Given the description of an element on the screen output the (x, y) to click on. 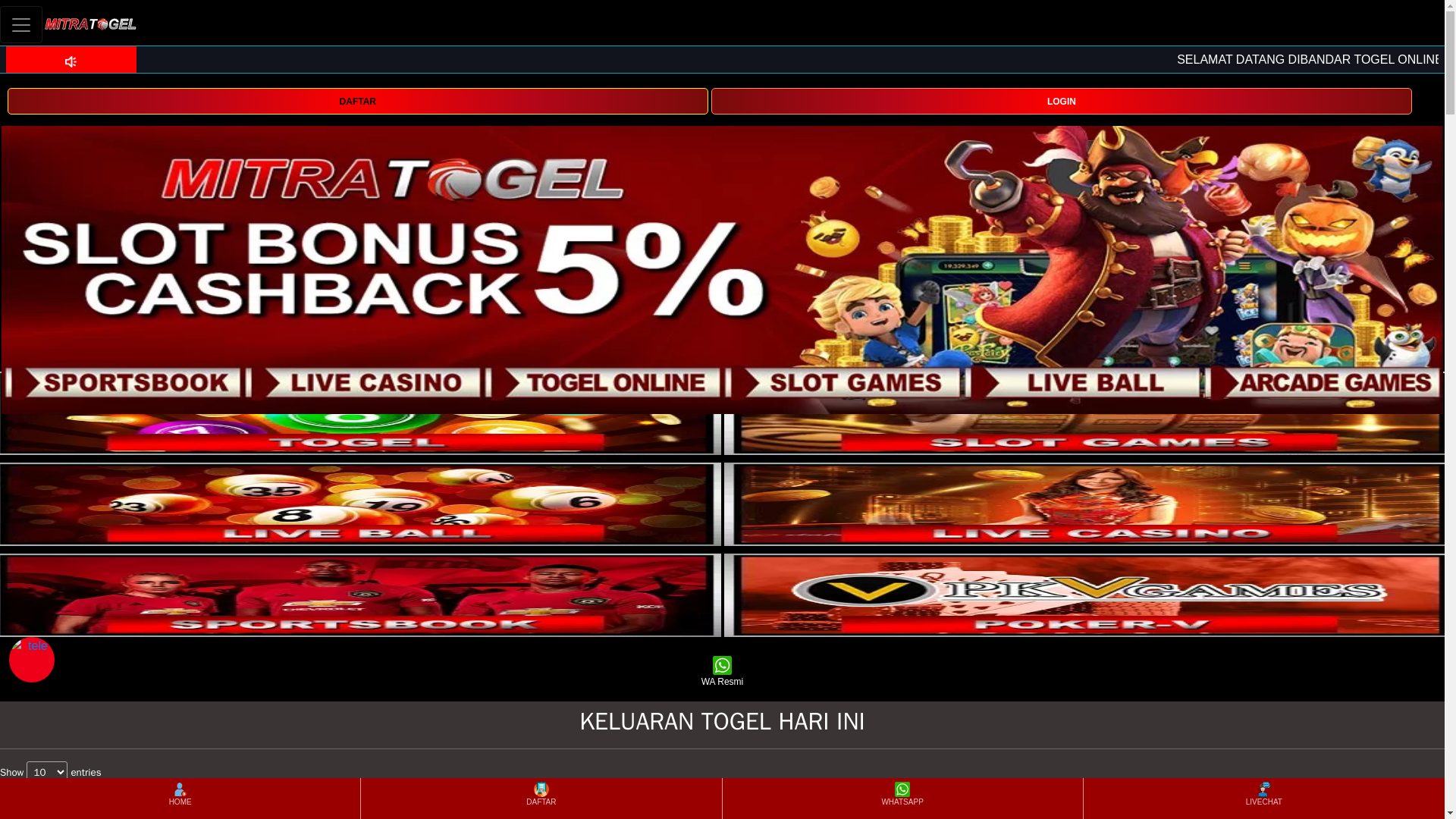
WHATSAPP (901, 798)
LOGIN (1061, 100)
DAFTAR (357, 100)
DAFTAR (540, 798)
WA Resmi (722, 672)
HOME (179, 798)
DAFTAR (357, 100)
LIVECHAT (1263, 798)
LOGIN (1061, 100)
